Given the description of an element on the screen output the (x, y) to click on. 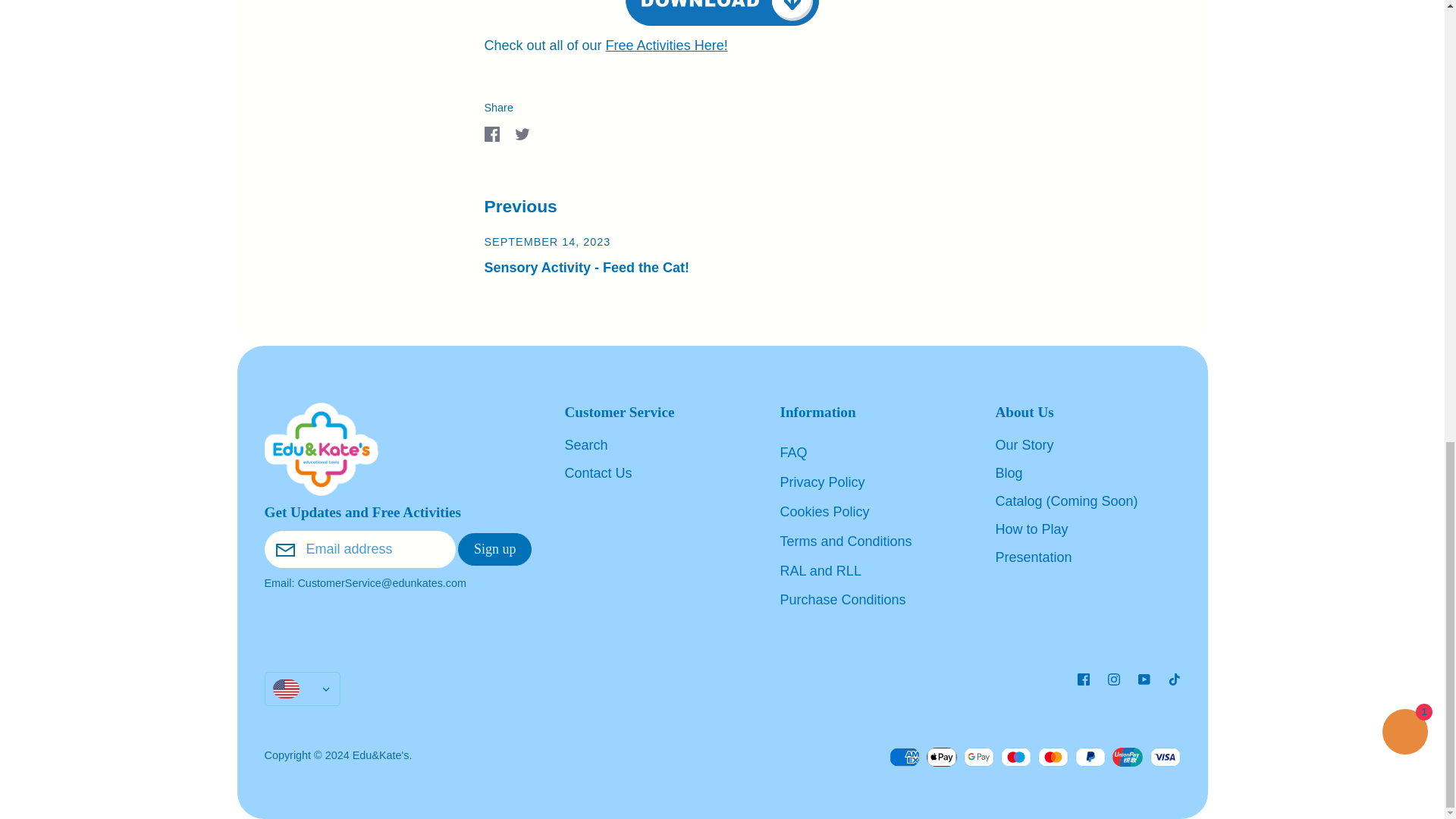
Free Activities Here! (666, 45)
Terms of Service (844, 540)
Sensory Activity - Feed the Cat! (585, 267)
Free Activities (666, 45)
Union Pay (1127, 756)
Sign up (495, 549)
Search (585, 445)
PayPal (1090, 756)
Maestro (1015, 756)
Cookies Policy (823, 511)
Math Activity - Add Up the Fruits (721, 17)
Apple Pay (941, 756)
American Express (904, 756)
Privacy Policy (821, 482)
Google Pay (978, 756)
